Given the description of an element on the screen output the (x, y) to click on. 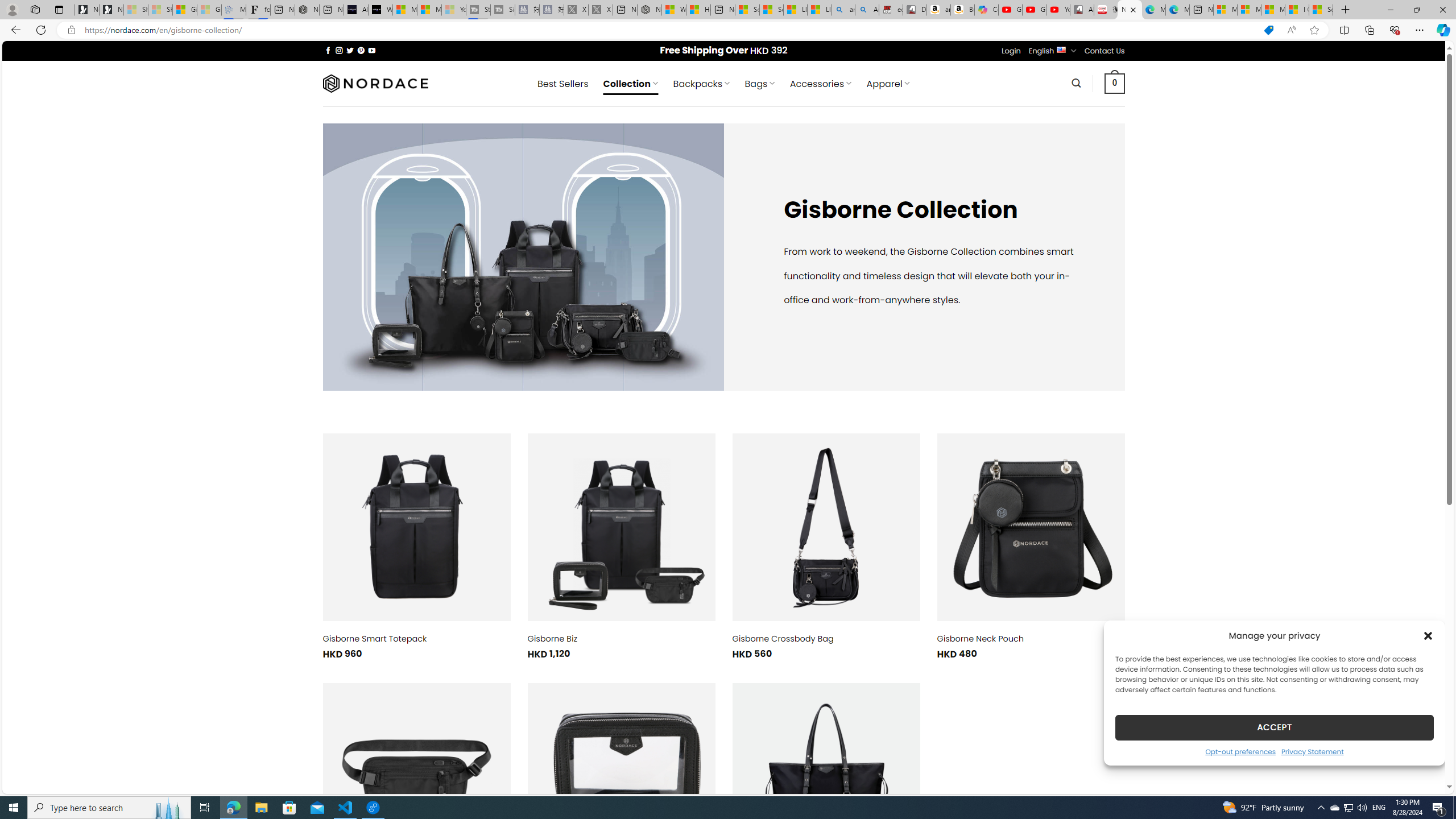
Nordace - My Account (648, 9)
Privacy Statement (1312, 750)
